Given the description of an element on the screen output the (x, y) to click on. 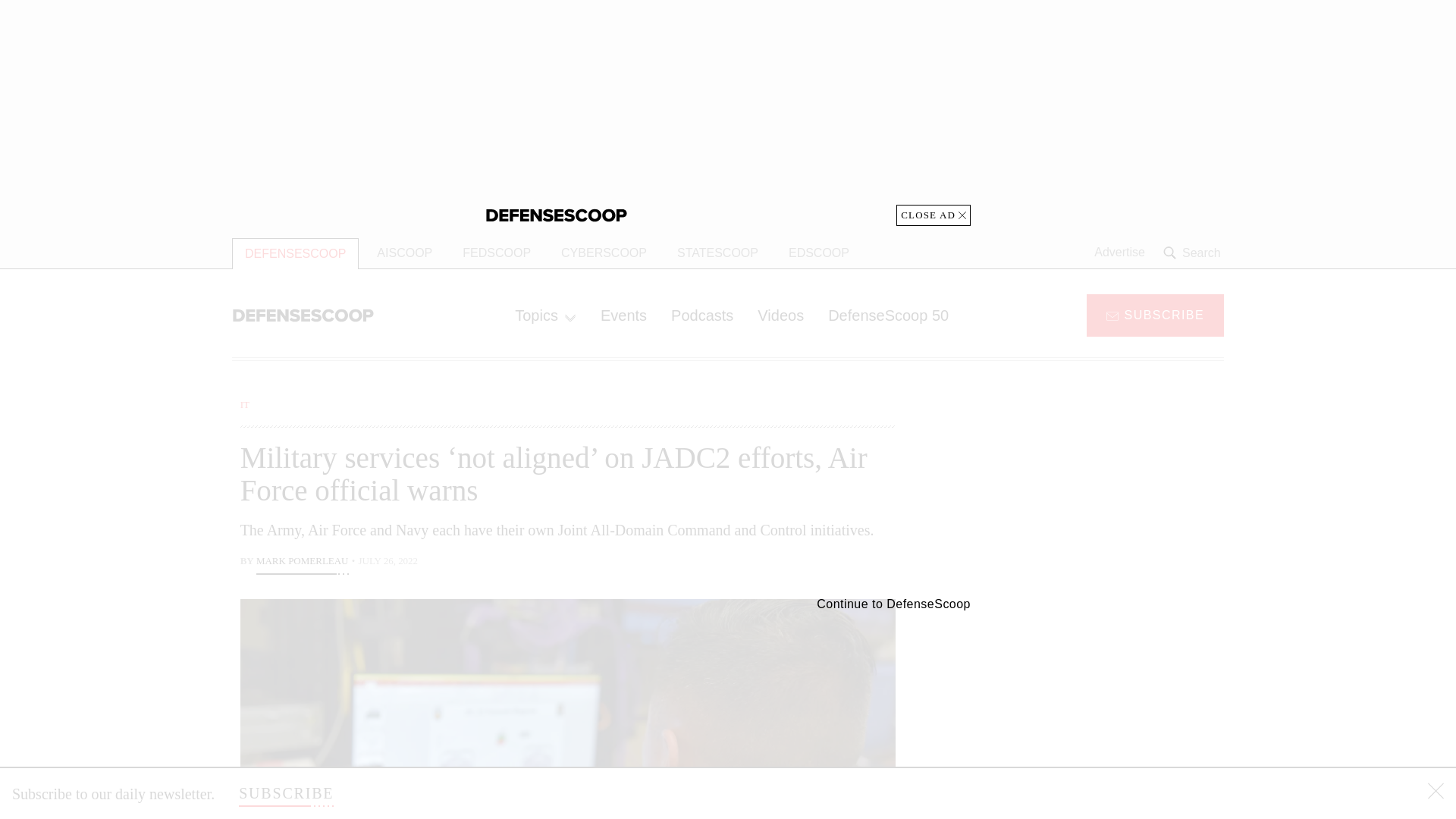
Podcasts (702, 315)
FEDSCOOP (496, 253)
EDSCOOP (818, 253)
STATESCOOP (717, 253)
AISCOOP (404, 253)
3rd party ad content (1101, 492)
SUBSCRIBE (285, 793)
DefenseScoop 50 (887, 315)
